Given the description of an element on the screen output the (x, y) to click on. 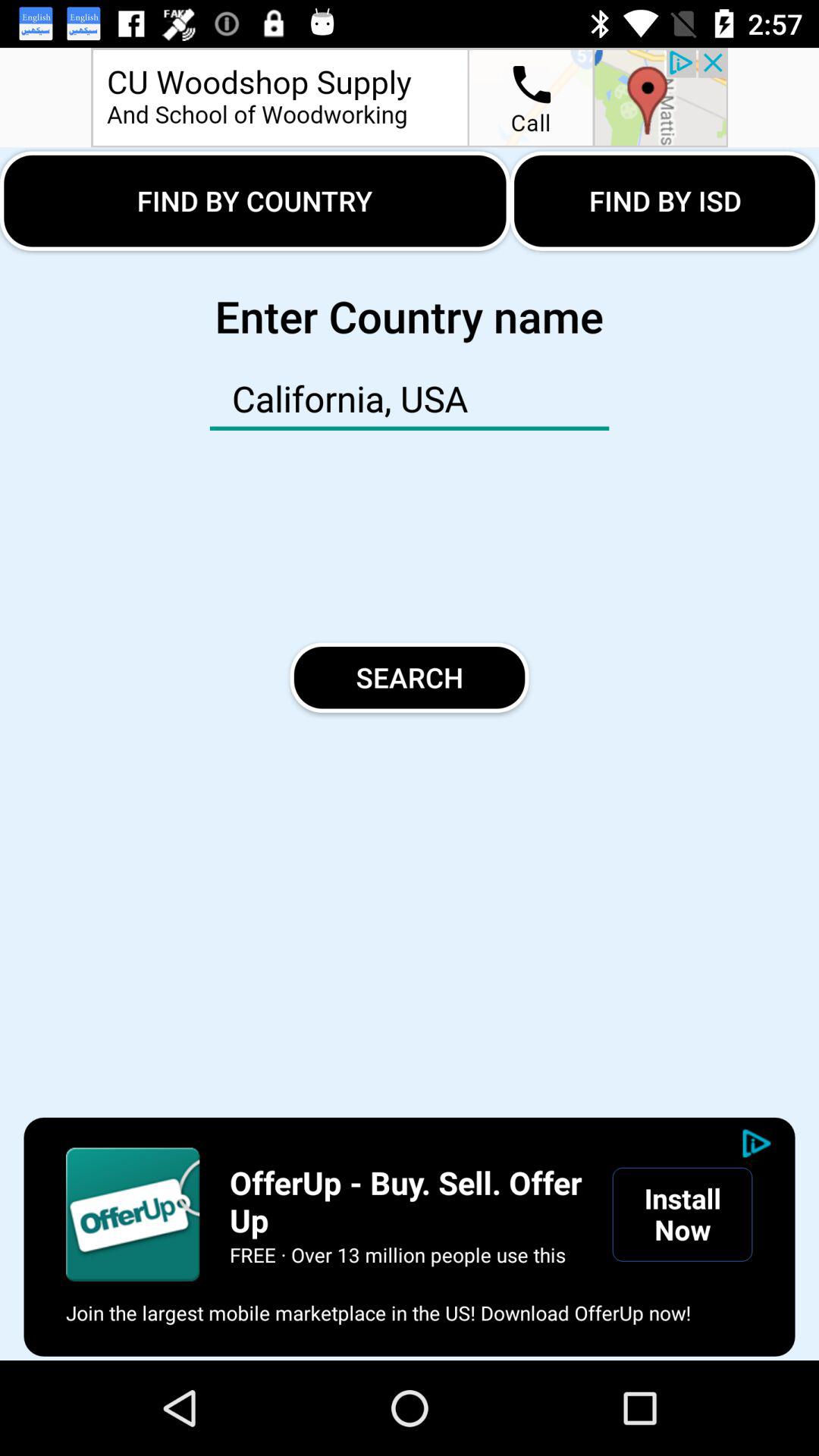
open advertisement (132, 1214)
